Given the description of an element on the screen output the (x, y) to click on. 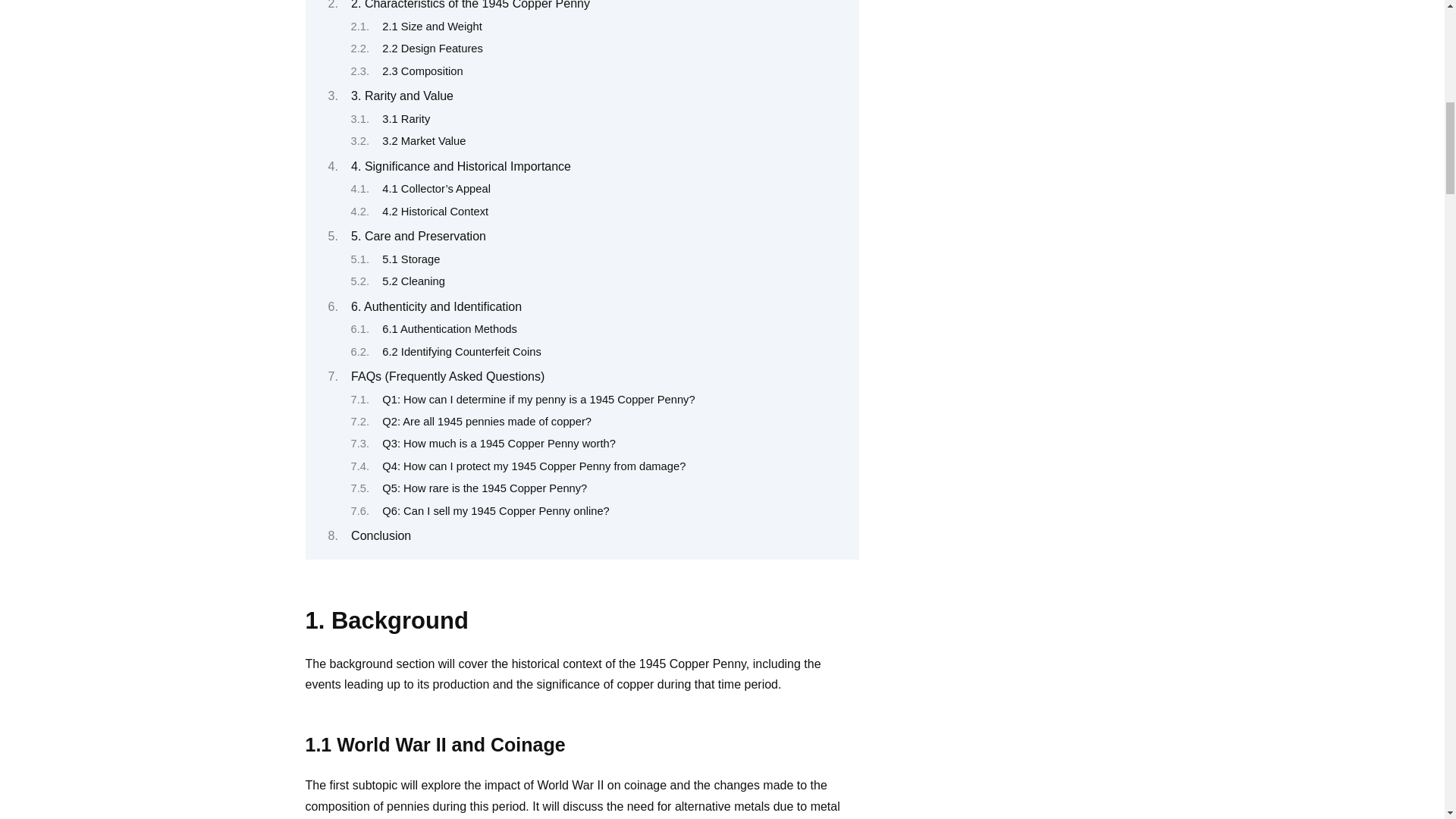
5.2 Cleaning (413, 281)
4. Significance and Historical Importance (460, 165)
5.1 Storage (410, 259)
2.1 Size and Weight (431, 26)
Q2: Are all 1945 pennies made of copper? (486, 421)
6.2 Identifying Counterfeit Coins (460, 351)
6. Authenticity and Identification (435, 306)
3. Rarity and Value (401, 95)
3.2 Market Value (423, 141)
6.1 Authentication Methods (448, 328)
5. Care and Preservation (418, 236)
2.2 Design Features (432, 48)
Q3: How much is a 1945 Copper Penny worth? (498, 443)
4.2 Historical Context (434, 211)
Conclusion (380, 535)
